Given the description of an element on the screen output the (x, y) to click on. 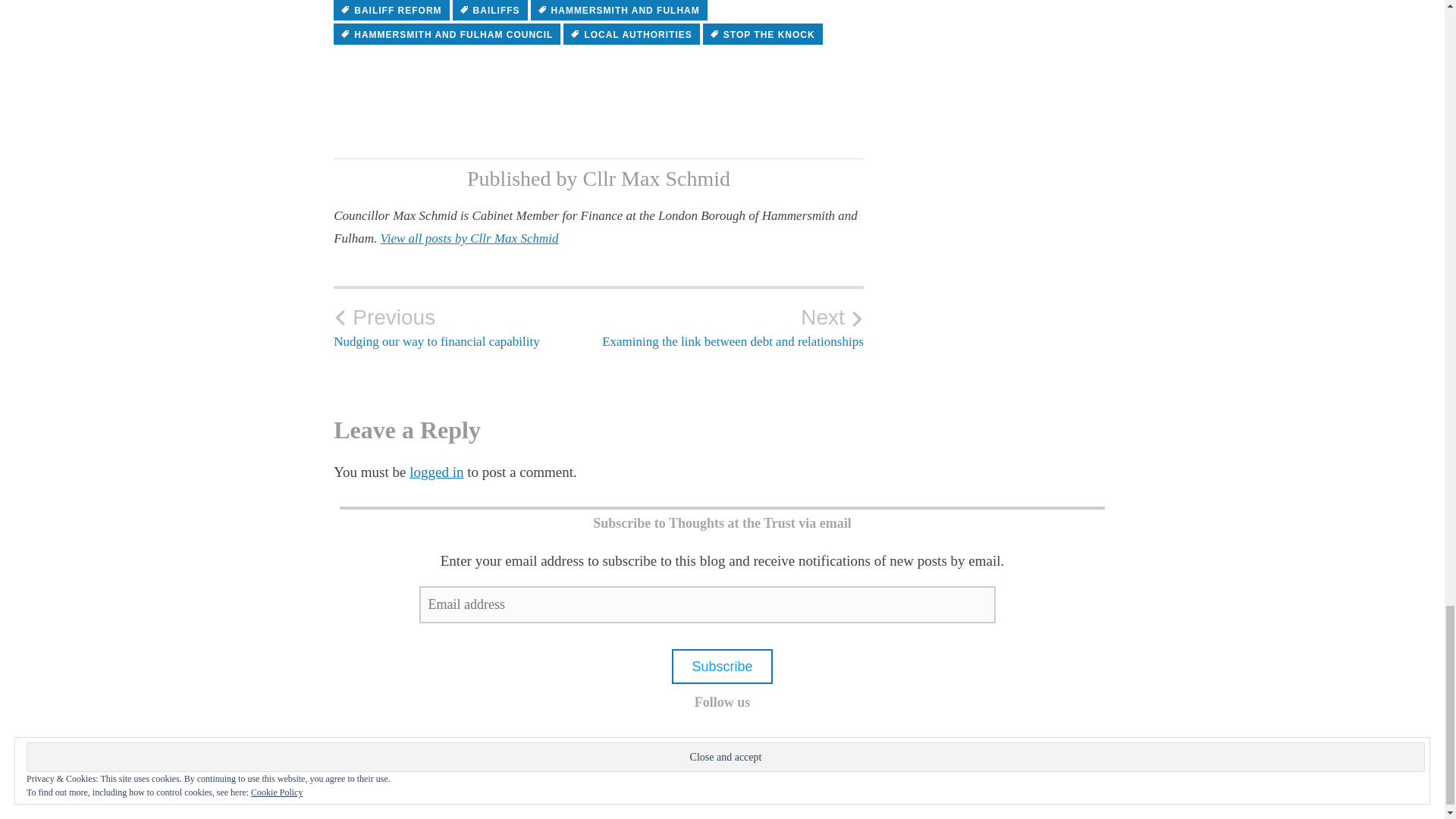
BAILIFFS (489, 10)
View all posts by Cllr Max Schmid (730, 327)
STOP THE KNOCK (469, 237)
HAMMERSMITH AND FULHAM (762, 34)
LOCAL AUTHORITIES (619, 10)
logged in (630, 34)
BAILIFF REFORM (436, 471)
HAMMERSMITH AND FULHAM COUNCIL (390, 10)
